Given the description of an element on the screen output the (x, y) to click on. 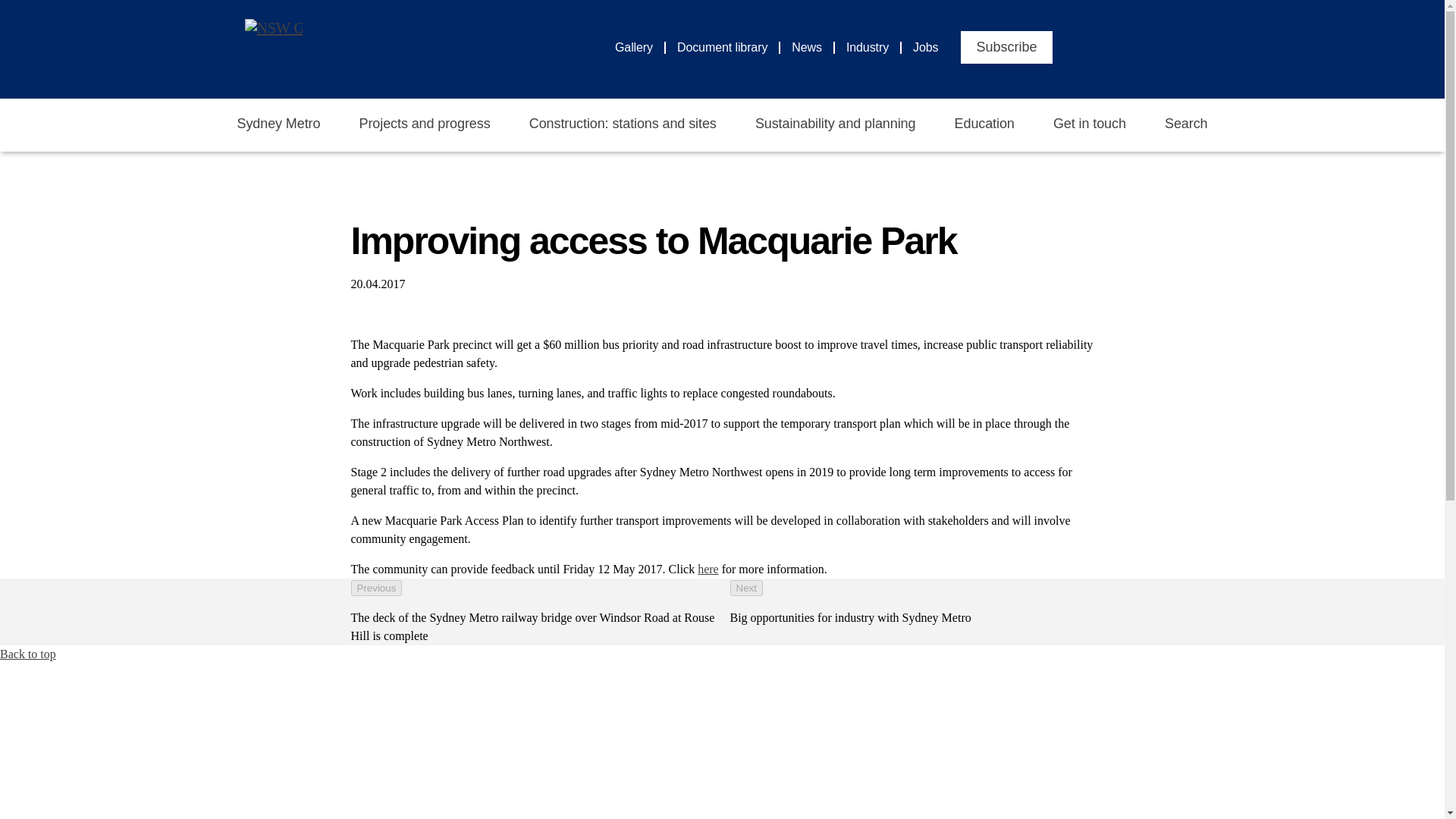
Industry (873, 47)
Document library (728, 47)
Gallery (639, 47)
News (813, 47)
Construction: stations and sites (622, 124)
Subscribe (1005, 47)
Projects and progress (424, 124)
Sydney Metro (277, 124)
Jobs (924, 47)
